Given the description of an element on the screen output the (x, y) to click on. 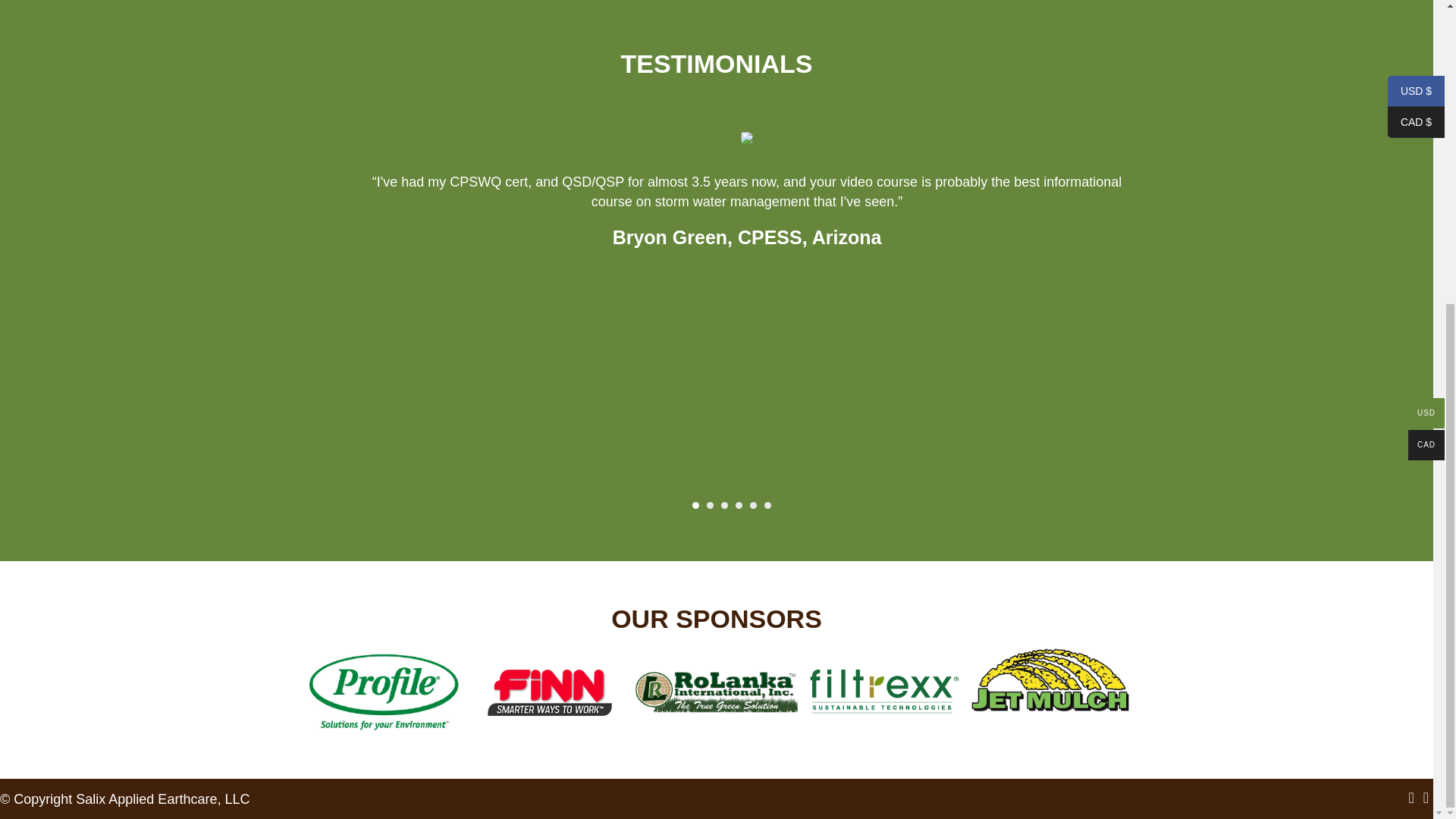
Finn (549, 730)
filtrexx (882, 730)
Jet Mulch (1050, 706)
Profile (382, 730)
Rolanka (716, 730)
